Given the description of an element on the screen output the (x, y) to click on. 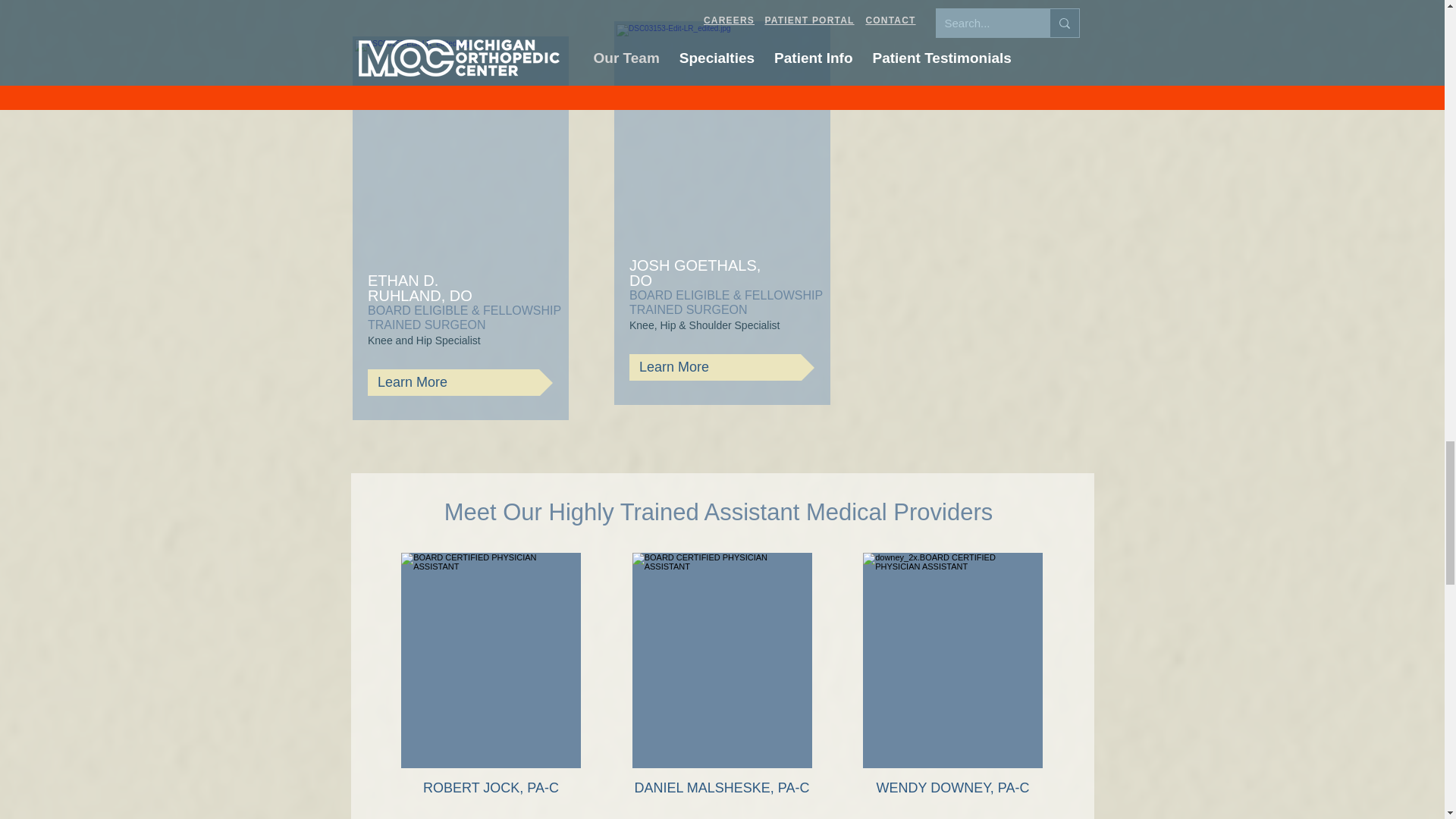
Learn More (460, 382)
2023 Goethals .jpg (721, 132)
Learn More (720, 366)
